Given the description of an element on the screen output the (x, y) to click on. 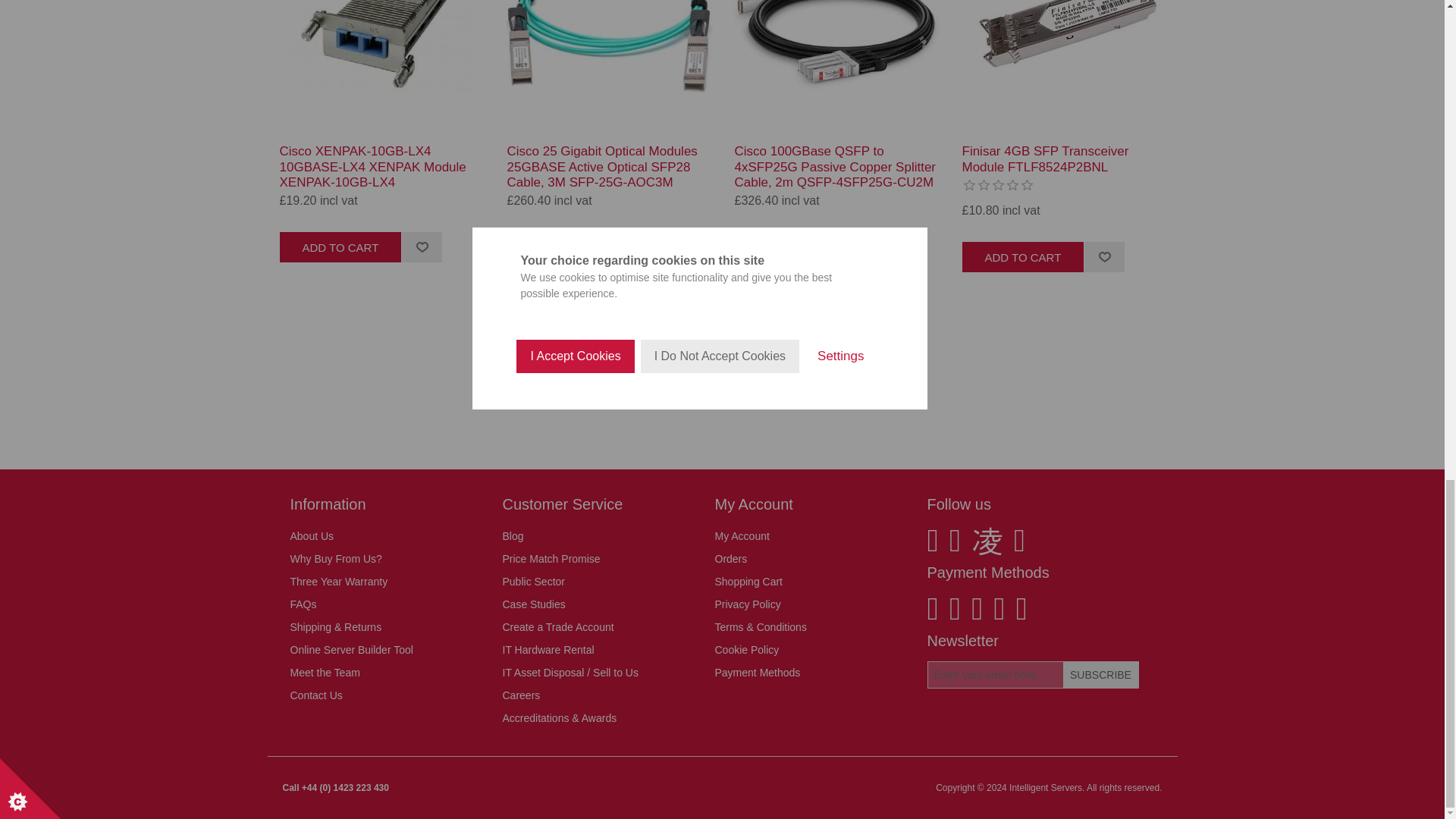
Add to wishlist (648, 246)
Add to wishlist (421, 246)
Add to wishlist (876, 246)
Add to wishlist (648, 246)
Add to wishlist (1103, 256)
Add to cart (340, 246)
Add to wishlist (876, 246)
Add to wishlist (421, 246)
Add to cart (1021, 256)
Add to wishlist (1103, 256)
Add to cart (567, 246)
